Given the description of an element on the screen output the (x, y) to click on. 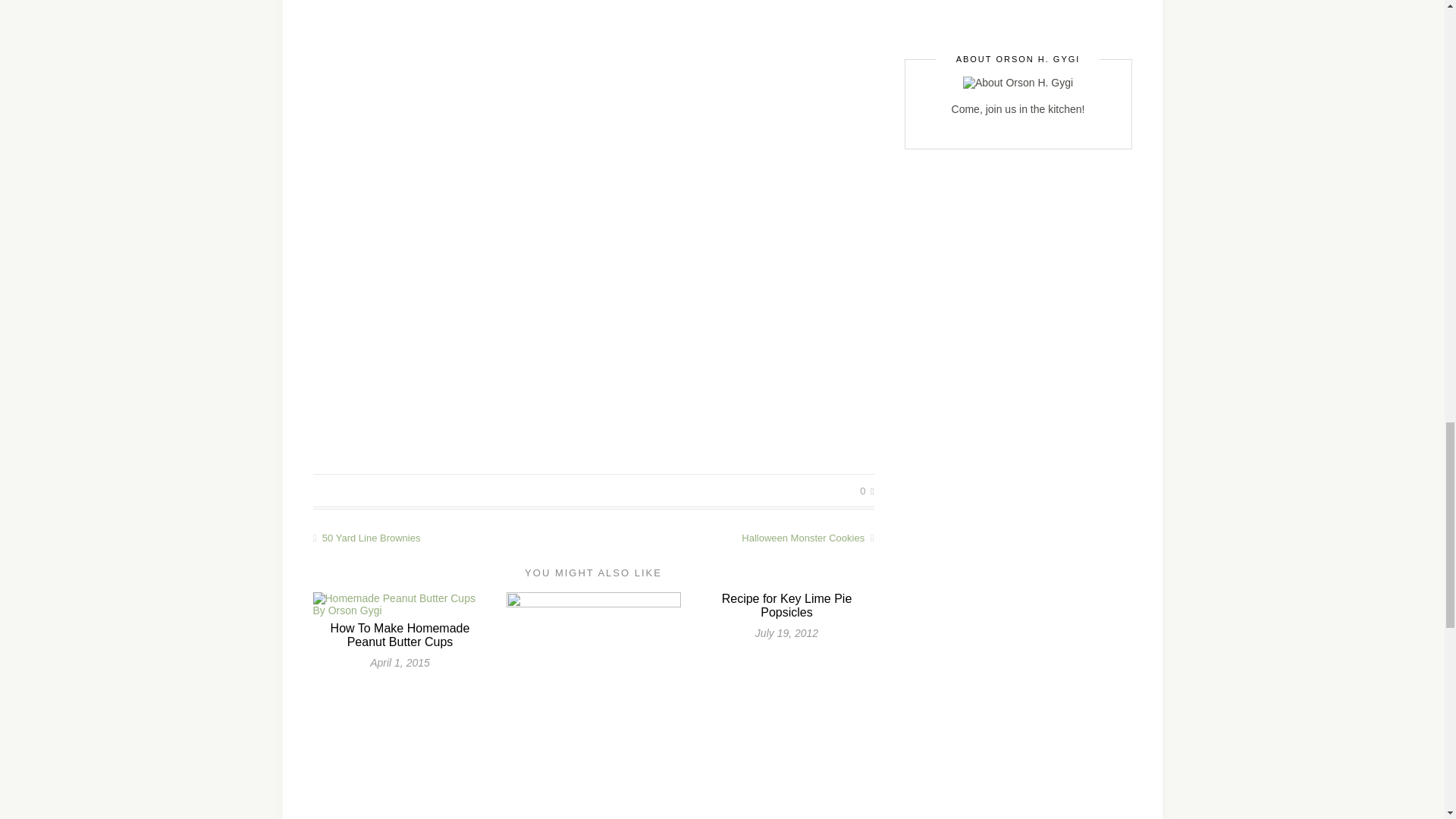
50 Yard Line Brownies (452, 537)
0 (866, 490)
How To Make Homemade Peanut Butter Cups (400, 634)
Recipe for Key Lime Pie Popsicles (786, 605)
Halloween Monster Cookies (732, 537)
